Given the description of an element on the screen output the (x, y) to click on. 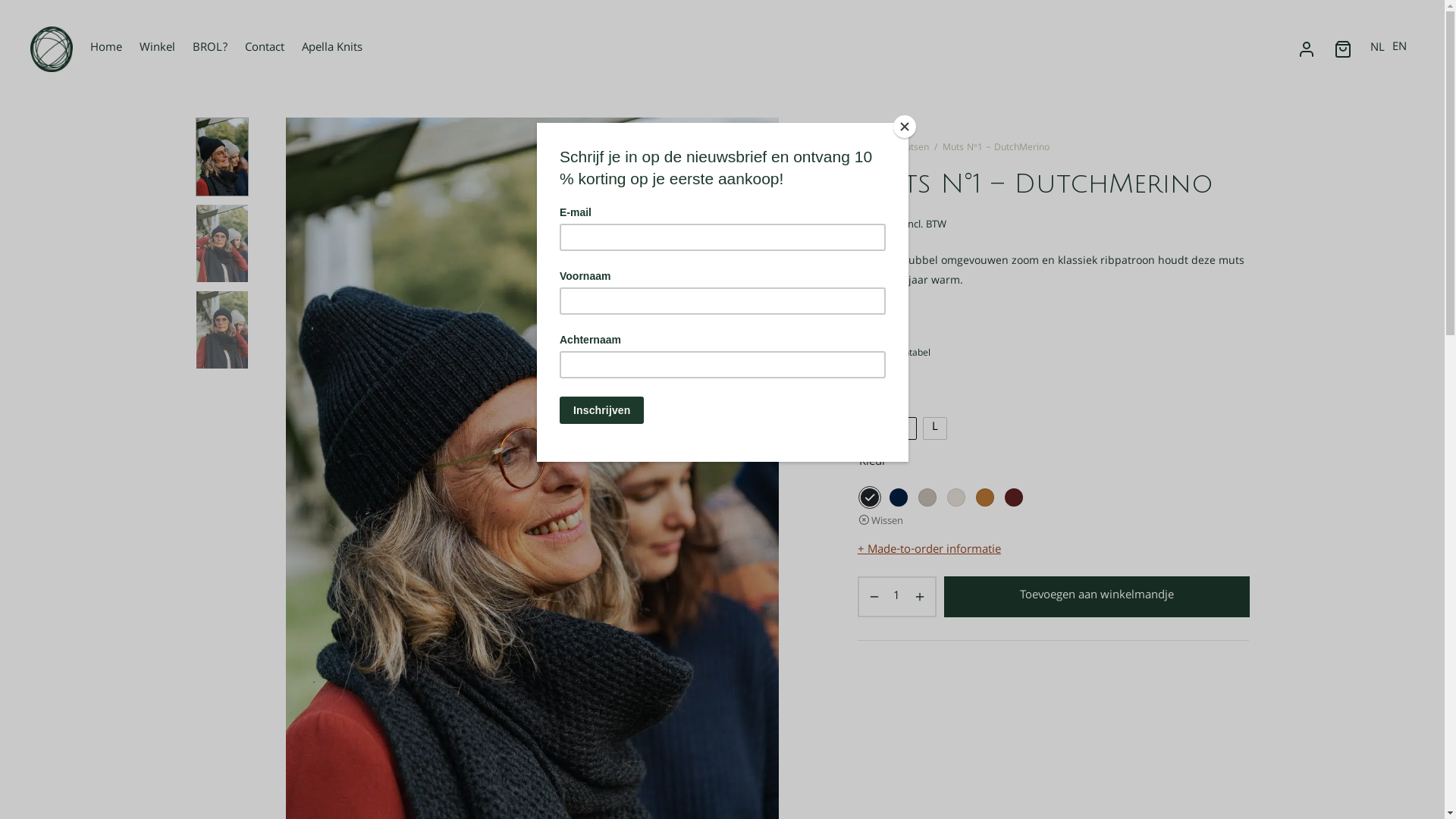
Steenrood Element type: hover (1013, 497)
Mutsen Element type: text (912, 148)
Okergeel Element type: hover (984, 497)
Wissen Element type: text (880, 521)
BROL? Element type: text (209, 49)
Donkerblauw Element type: hover (898, 497)
Naturel Grijs Element type: hover (927, 497)
Home Element type: text (106, 49)
Matentabel Element type: text (893, 353)
Antraciet Element type: hover (869, 497)
Home Element type: text (870, 148)
Winkel Element type: text (157, 49)
Toevoegen aan winkelmandje Element type: text (1096, 596)
Cart Element type: hover (1342, 49)
Naturel Wit Element type: hover (955, 497)
EN Element type: text (1399, 47)
Apella Knits Element type: text (331, 49)
Contact Element type: text (264, 49)
